Given the description of an element on the screen output the (x, y) to click on. 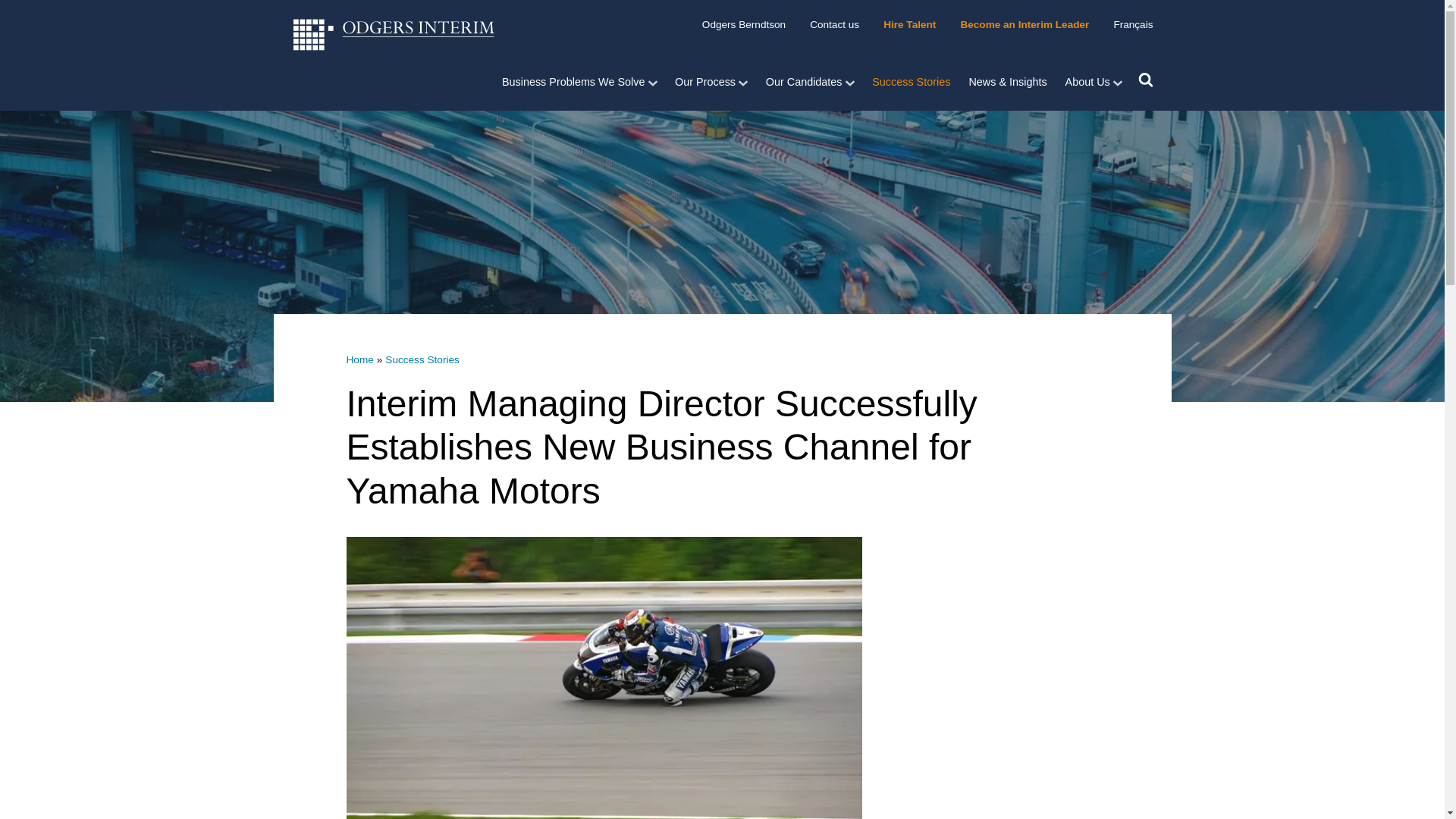
Process (711, 82)
Our Candidates (810, 82)
Our Process (711, 82)
Contact us (833, 24)
Candidates (810, 82)
Business Problems We Solve (583, 82)
Odgers Berndtson (743, 24)
Success Stories (421, 359)
Become an Interim Leader (1023, 24)
Success Stories (911, 82)
